Given the description of an element on the screen output the (x, y) to click on. 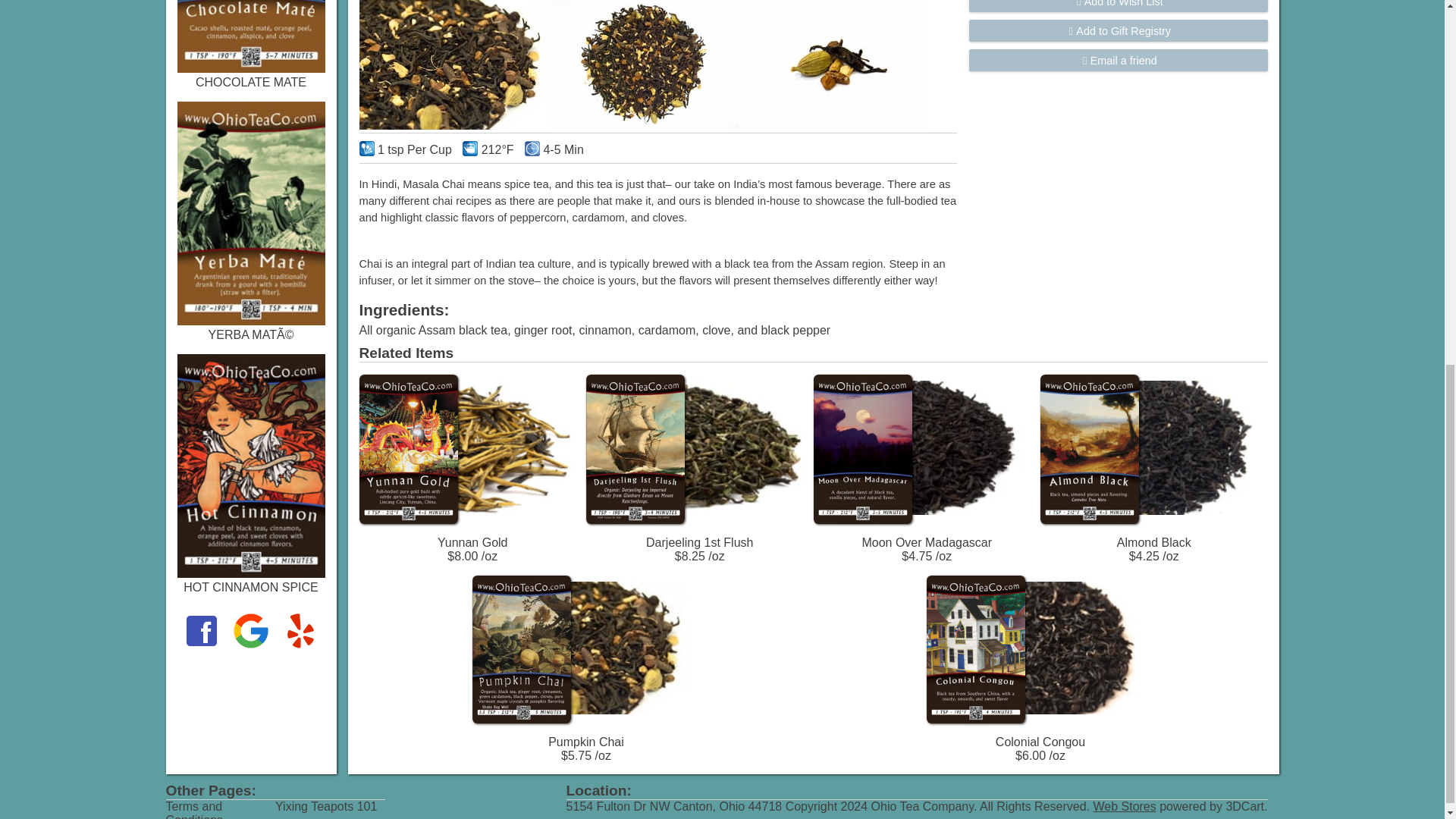
Chocolate Mate (250, 68)
Follow Us on Yelp (299, 646)
Follow Us on Twitter (250, 646)
Like Us on Facebook (200, 646)
